Given the description of an element on the screen output the (x, y) to click on. 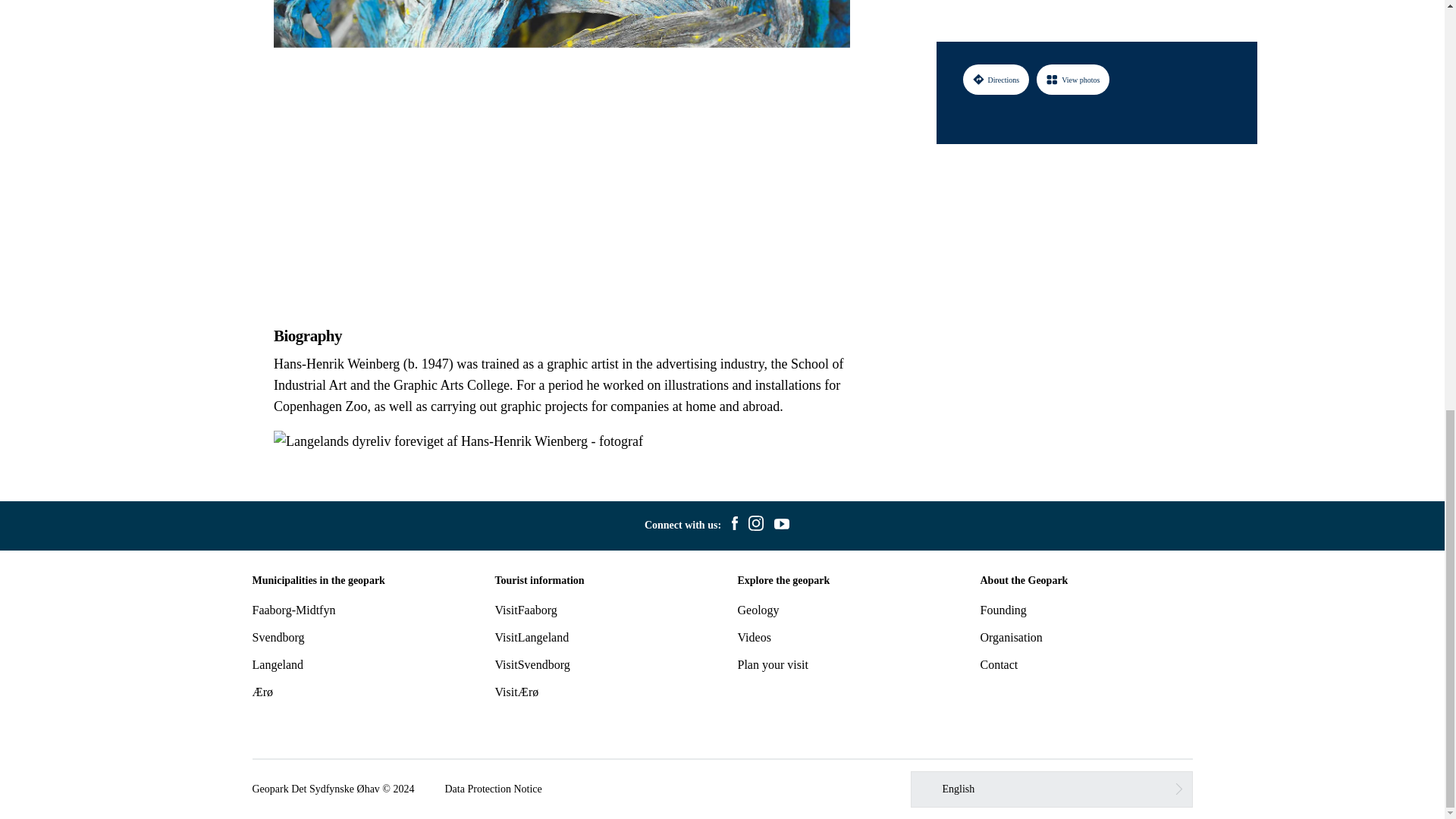
Founding (1002, 609)
Geology (757, 609)
Svendborg  (277, 636)
instagram (755, 525)
Videos (753, 636)
Langeland (276, 664)
Videos (753, 636)
VisitSvendborg (532, 664)
Data Protection Notice (492, 789)
VisitLangeland (532, 636)
